Given the description of an element on the screen output the (x, y) to click on. 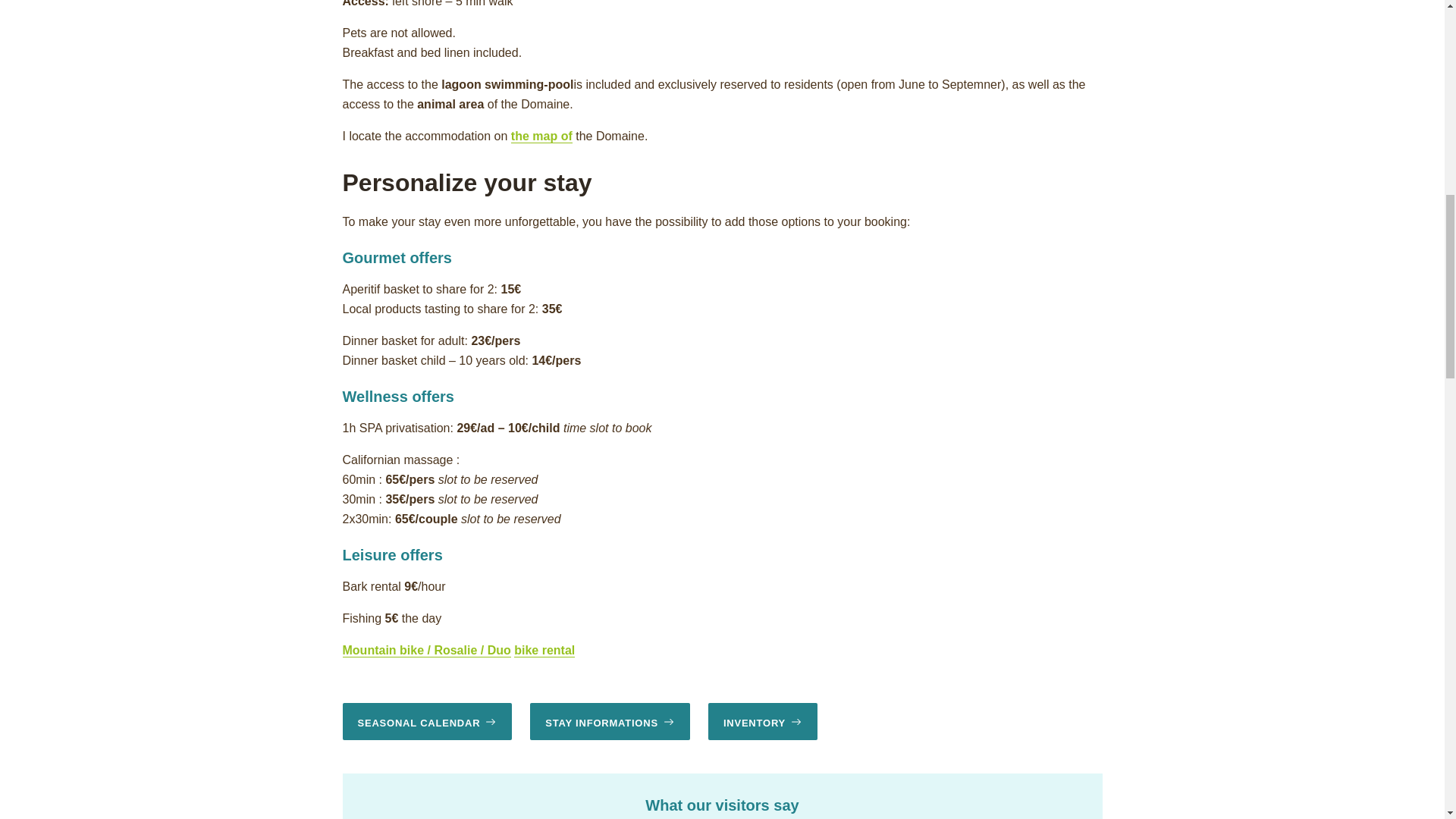
INVENTORY (761, 721)
the map of (541, 136)
STAY INFORMATIONS (609, 721)
SEASONAL CALENDAR (427, 721)
bike rental (544, 650)
